Given the description of an element on the screen output the (x, y) to click on. 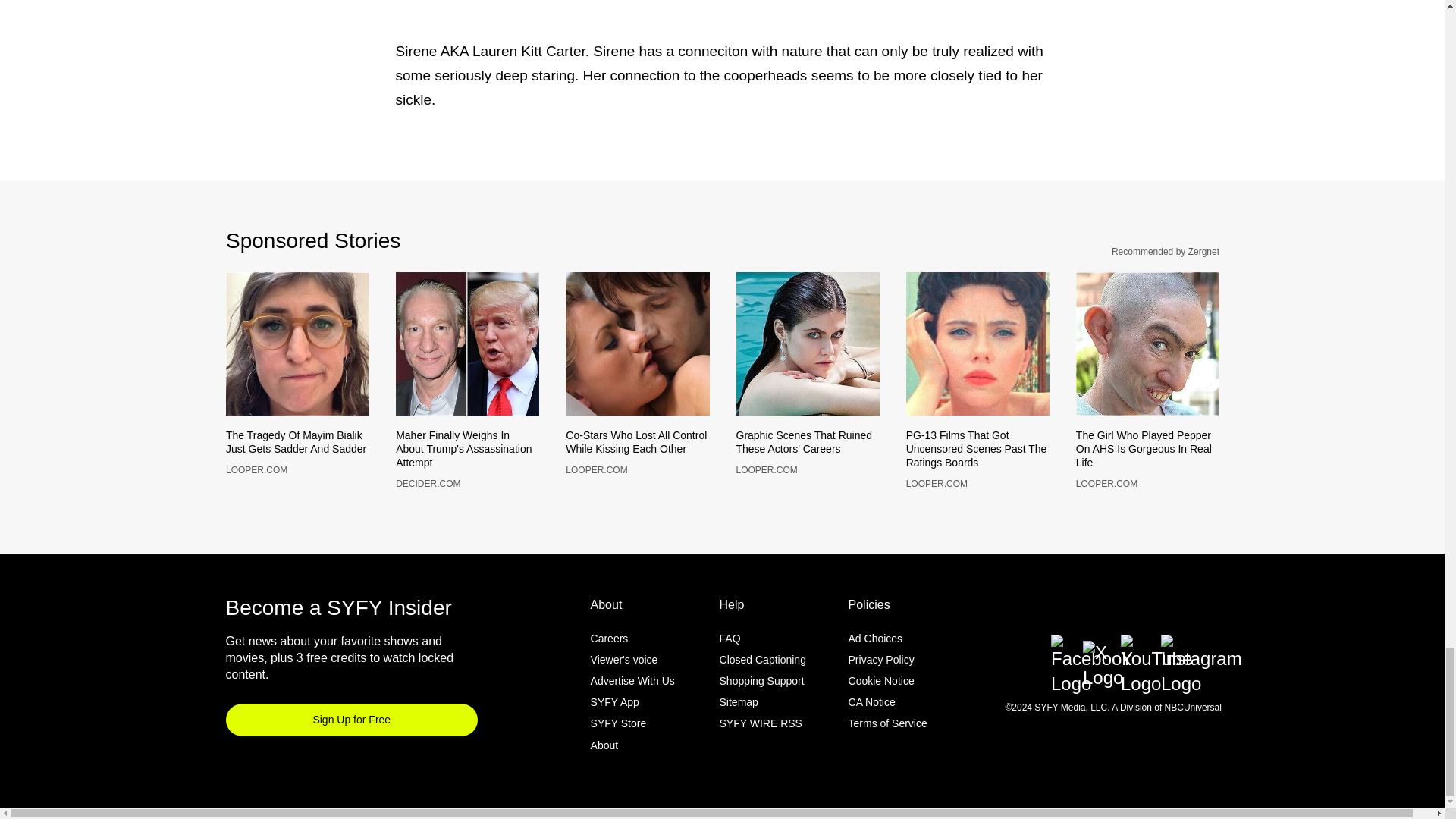
Advertise With Us (633, 705)
Careers (609, 663)
Sign Up for Free (352, 744)
SYFY App (615, 727)
Graphic Scenes That Ruined These Actors' CareersLOOPER.COM (807, 452)
Advertise With Us (633, 705)
Viewer's voice (624, 684)
